Given the description of an element on the screen output the (x, y) to click on. 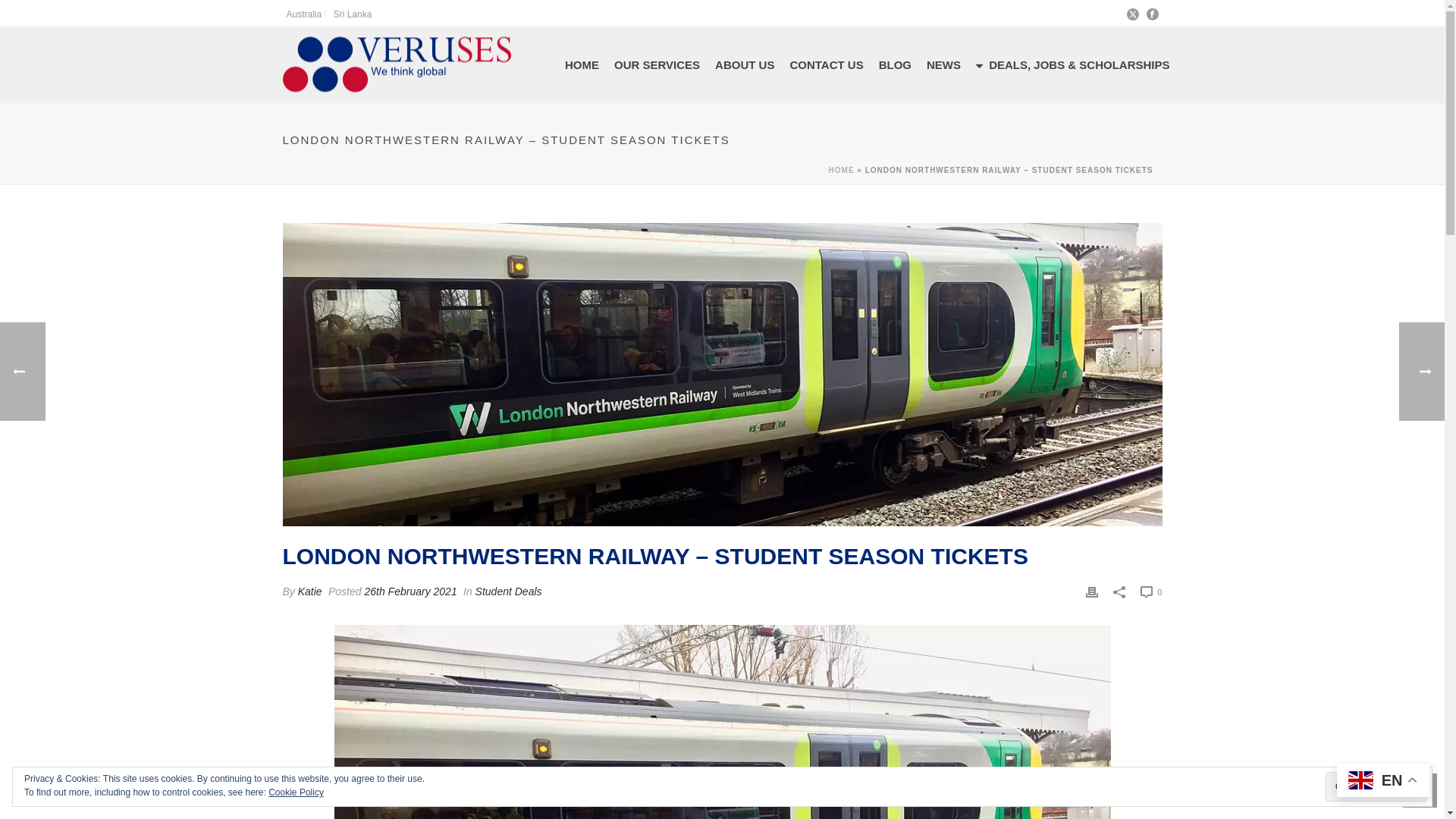
Student Deals (508, 591)
HOME (841, 170)
BLOG (894, 65)
ABOUT US (744, 65)
0 (1150, 591)
ABOUT US (744, 65)
BLOG (894, 65)
OUR SERVICES (657, 65)
HOME (582, 65)
Sri Lanka (352, 14)
NEWS (943, 65)
Australia (304, 14)
Posts by Katie (309, 591)
OUR SERVICES (657, 65)
CONTACT US (825, 65)
